Given the description of an element on the screen output the (x, y) to click on. 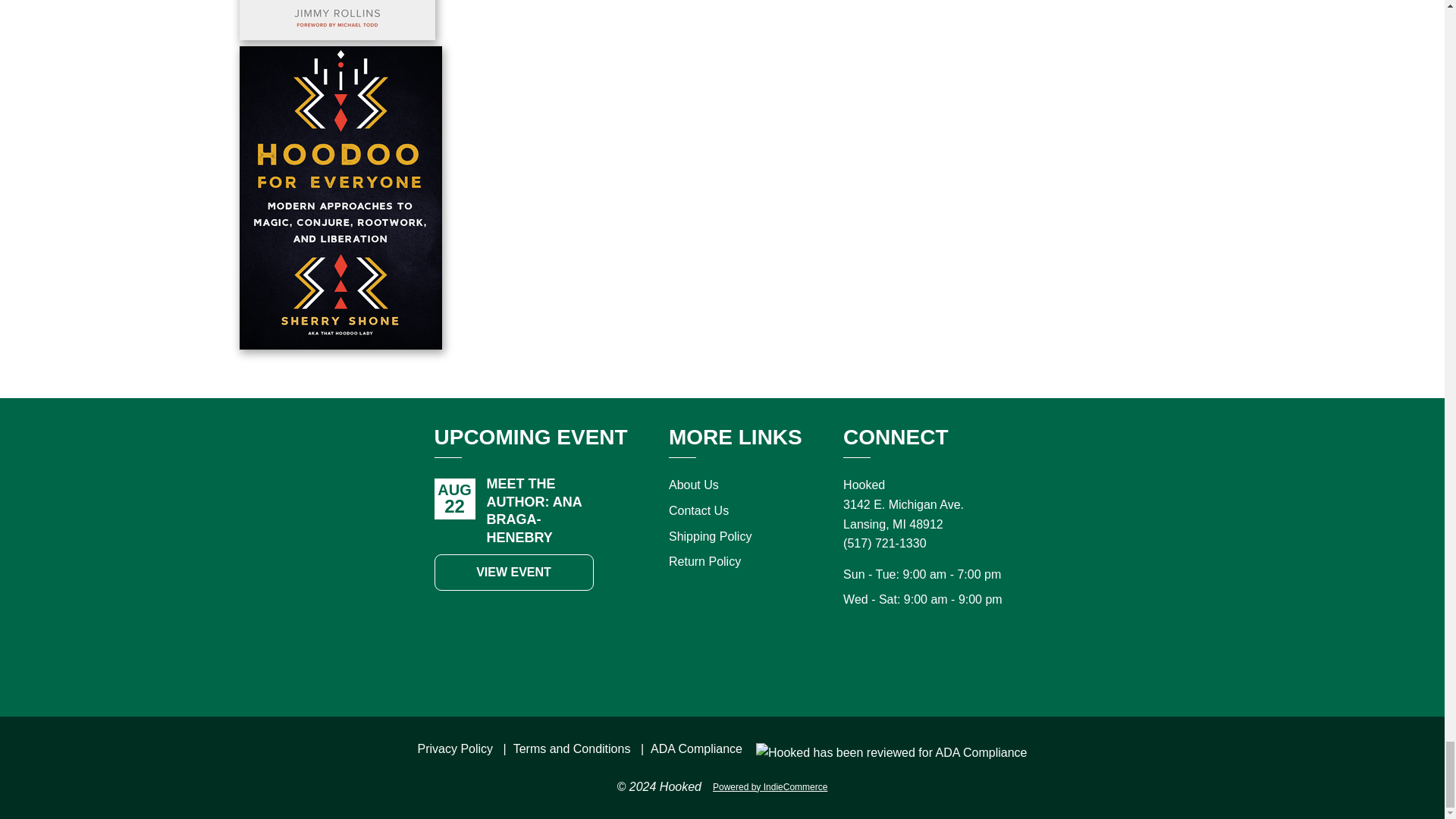
Connect with Facebook (876, 663)
Connect with Instagram (909, 663)
Connect with Twitter (943, 663)
Connect with Youtube Channel (976, 663)
